Given the description of an element on the screen output the (x, y) to click on. 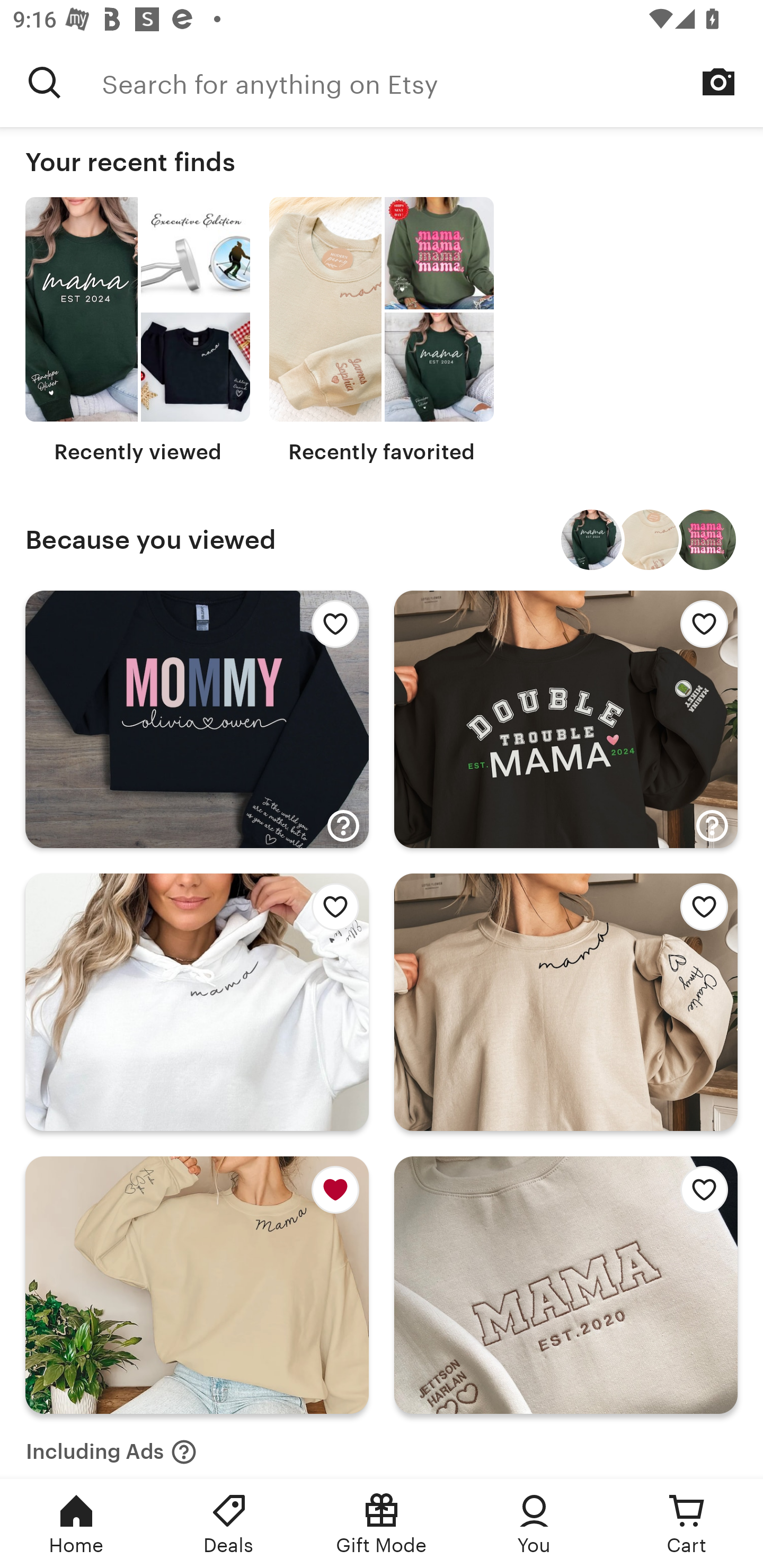
Search for anything on Etsy (44, 82)
Search by image (718, 81)
Search for anything on Etsy (432, 82)
Recently viewed (137, 330)
Recently favorited (381, 330)
Including Ads (111, 1446)
Deals (228, 1523)
Gift Mode (381, 1523)
You (533, 1523)
Cart (686, 1523)
